Given the description of an element on the screen output the (x, y) to click on. 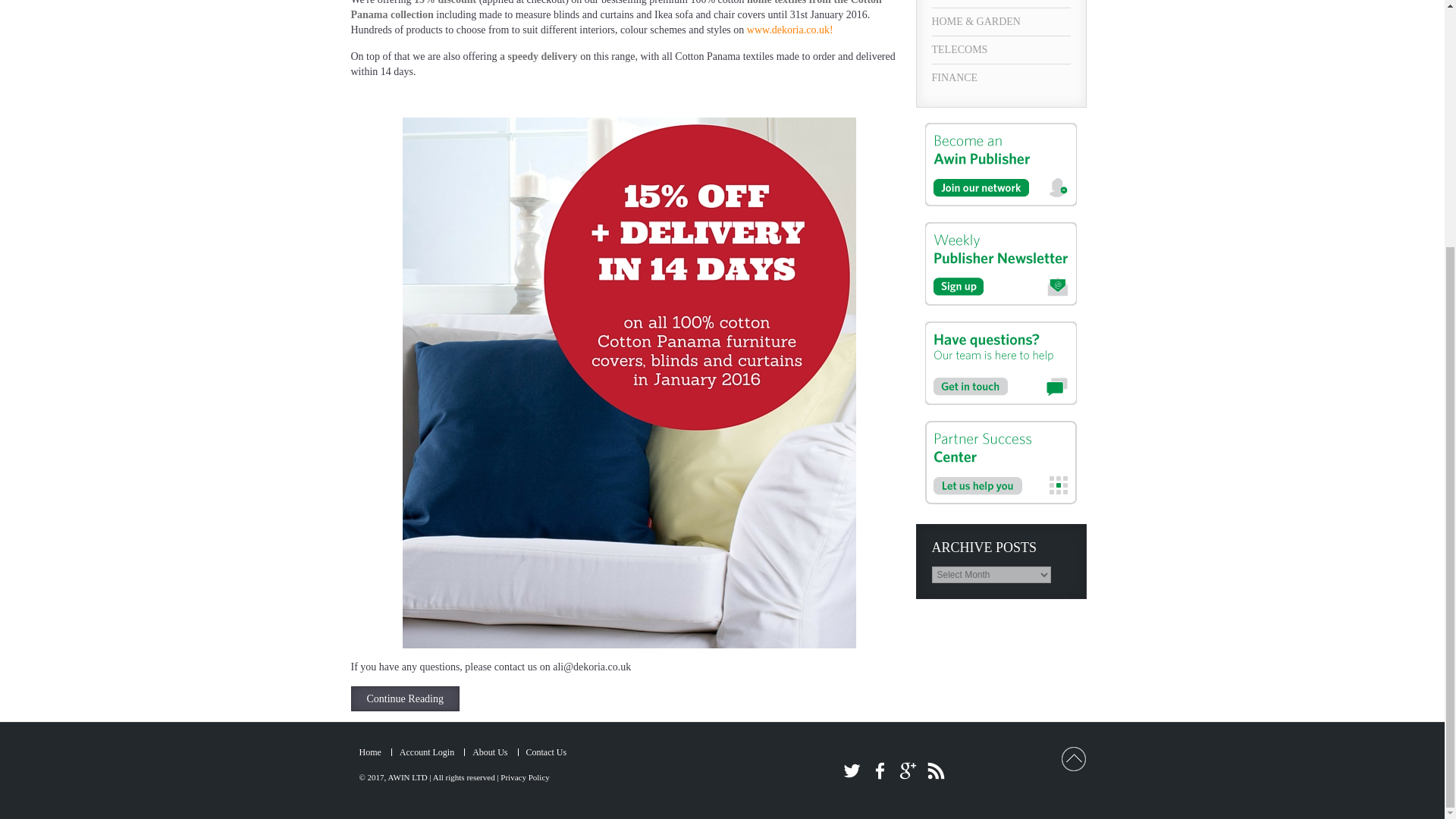
FINANCE (1000, 77)
Home (370, 752)
TELECOMS (1000, 49)
www.dekoria.co.uk! (789, 30)
Dekoria (789, 30)
TRAVEL (1000, 3)
Continue Reading (405, 698)
